Given the description of an element on the screen output the (x, y) to click on. 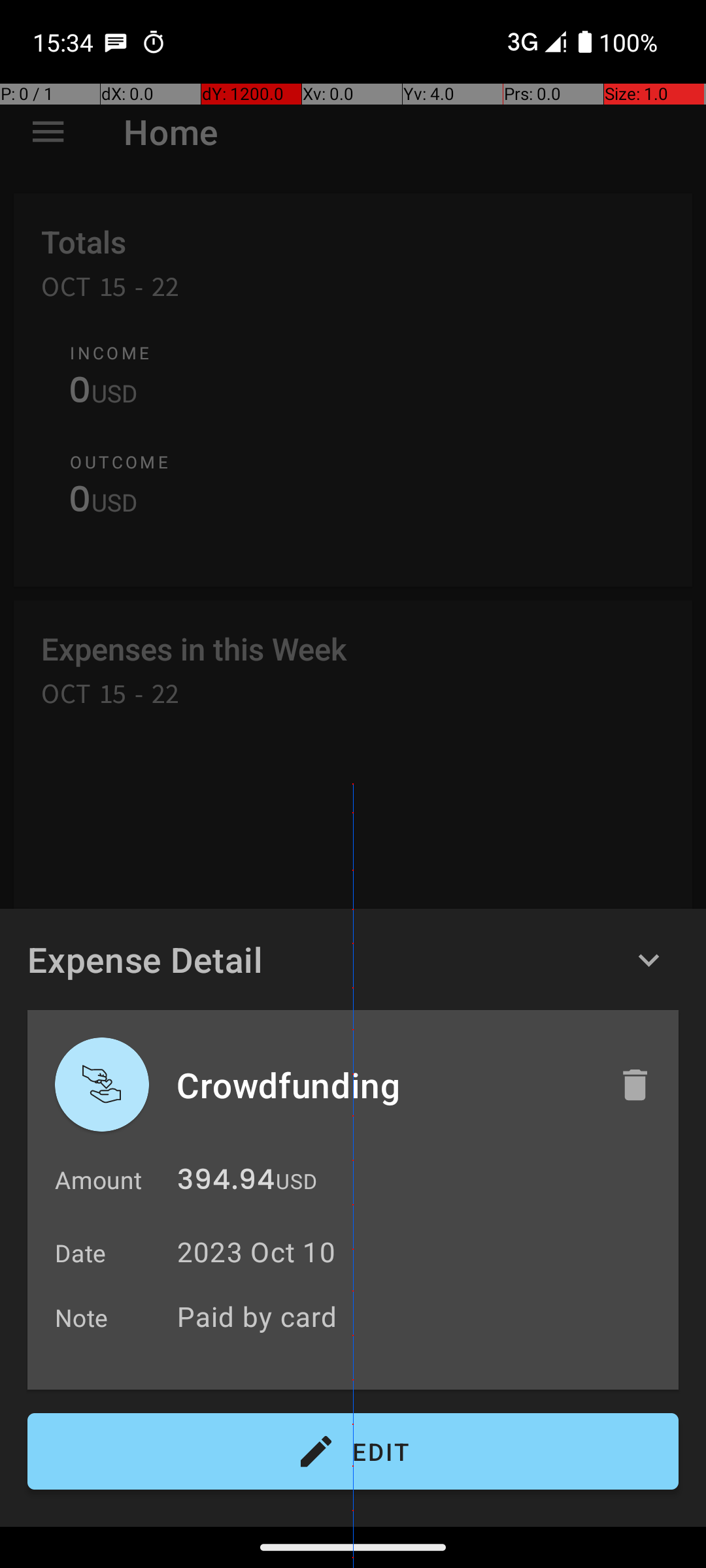
Crowdfunding Element type: android.widget.TextView (383, 1084)
394.94 Element type: android.widget.TextView (225, 1182)
